Given the description of an element on the screen output the (x, y) to click on. 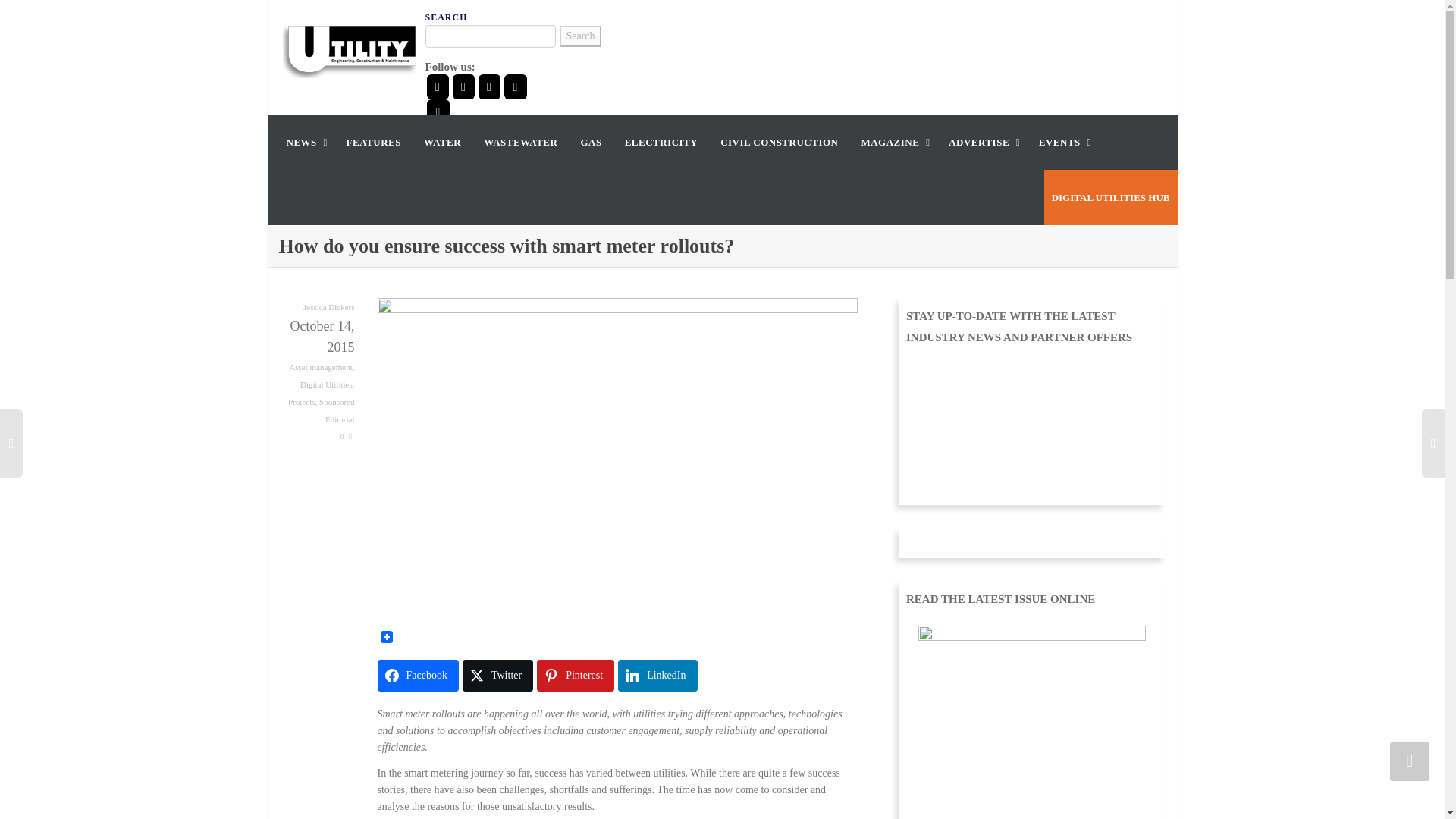
FEATURES (373, 141)
Sponsored Editorial (335, 410)
RSS Feed (437, 111)
Wastewater (520, 141)
ADVERTISE (982, 141)
Civil Construction (779, 141)
Jessica Dickers (328, 306)
ELECTRICITY (661, 141)
October 14, 2015 (317, 336)
Projects (301, 401)
